Given the description of an element on the screen output the (x, y) to click on. 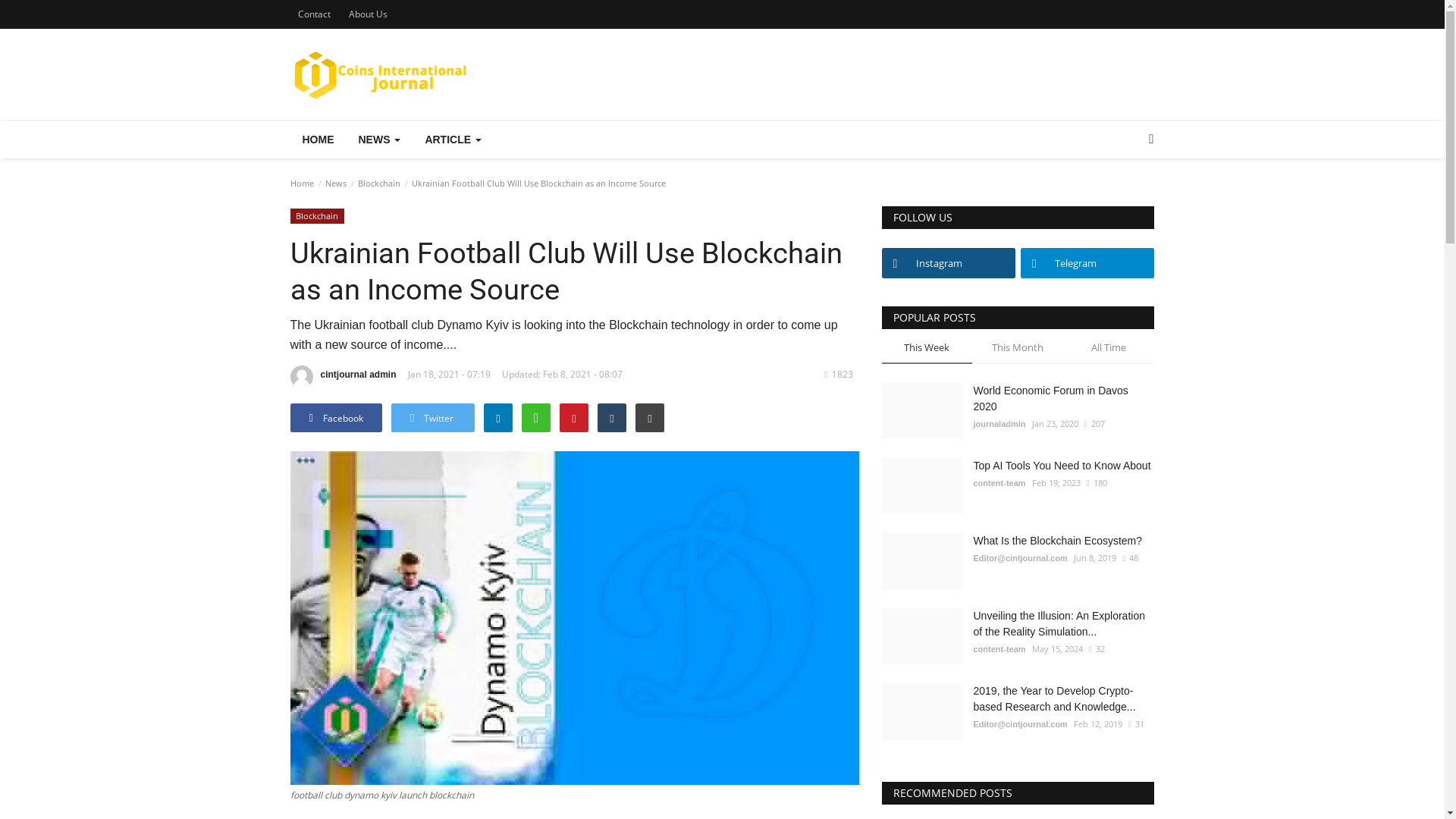
HOME (317, 139)
About Us (367, 14)
ARTICLE (452, 139)
Contact (313, 14)
NEWS (379, 139)
